Given the description of an element on the screen output the (x, y) to click on. 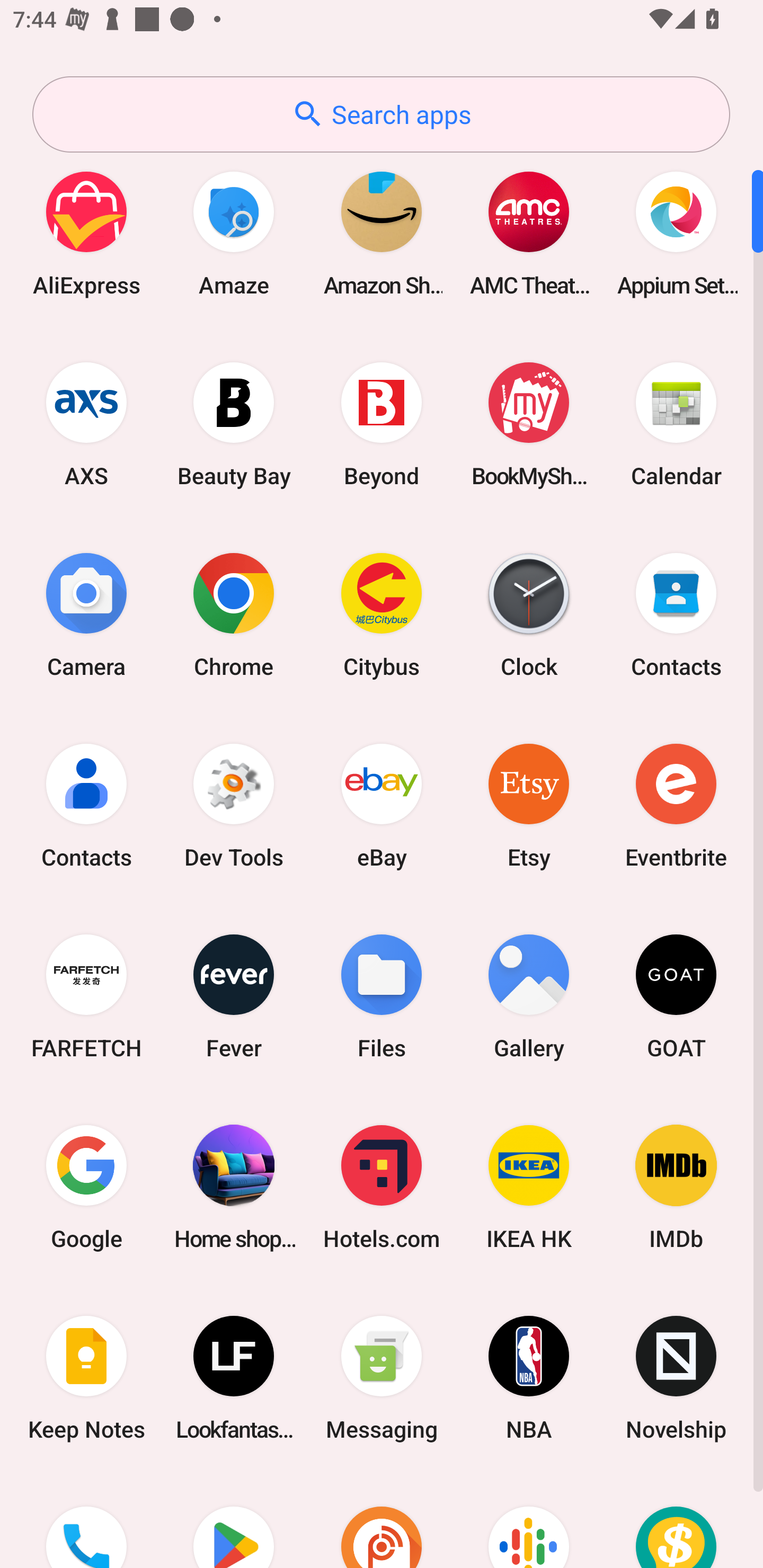
  Search apps (381, 114)
AliExpress (86, 233)
Amaze (233, 233)
Amazon Shopping (381, 233)
AMC Theatres (528, 233)
Appium Settings (676, 233)
AXS (86, 424)
Beauty Bay (233, 424)
Beyond (381, 424)
BookMyShow (528, 424)
Calendar (676, 424)
Camera (86, 614)
Chrome (233, 614)
Citybus (381, 614)
Clock (528, 614)
Contacts (676, 614)
Contacts (86, 805)
Dev Tools (233, 805)
eBay (381, 805)
Etsy (528, 805)
Eventbrite (676, 805)
FARFETCH (86, 996)
Fever (233, 996)
Files (381, 996)
Gallery (528, 996)
GOAT (676, 996)
Google (86, 1186)
Home shopping (233, 1186)
Hotels.com (381, 1186)
IKEA HK (528, 1186)
IMDb (676, 1186)
Keep Notes (86, 1377)
Lookfantastic (233, 1377)
Messaging (381, 1377)
NBA (528, 1377)
Novelship (676, 1377)
Phone (86, 1520)
Play Store (233, 1520)
Podcast Addict (381, 1520)
Podcasts (528, 1520)
Price (676, 1520)
